Given the description of an element on the screen output the (x, y) to click on. 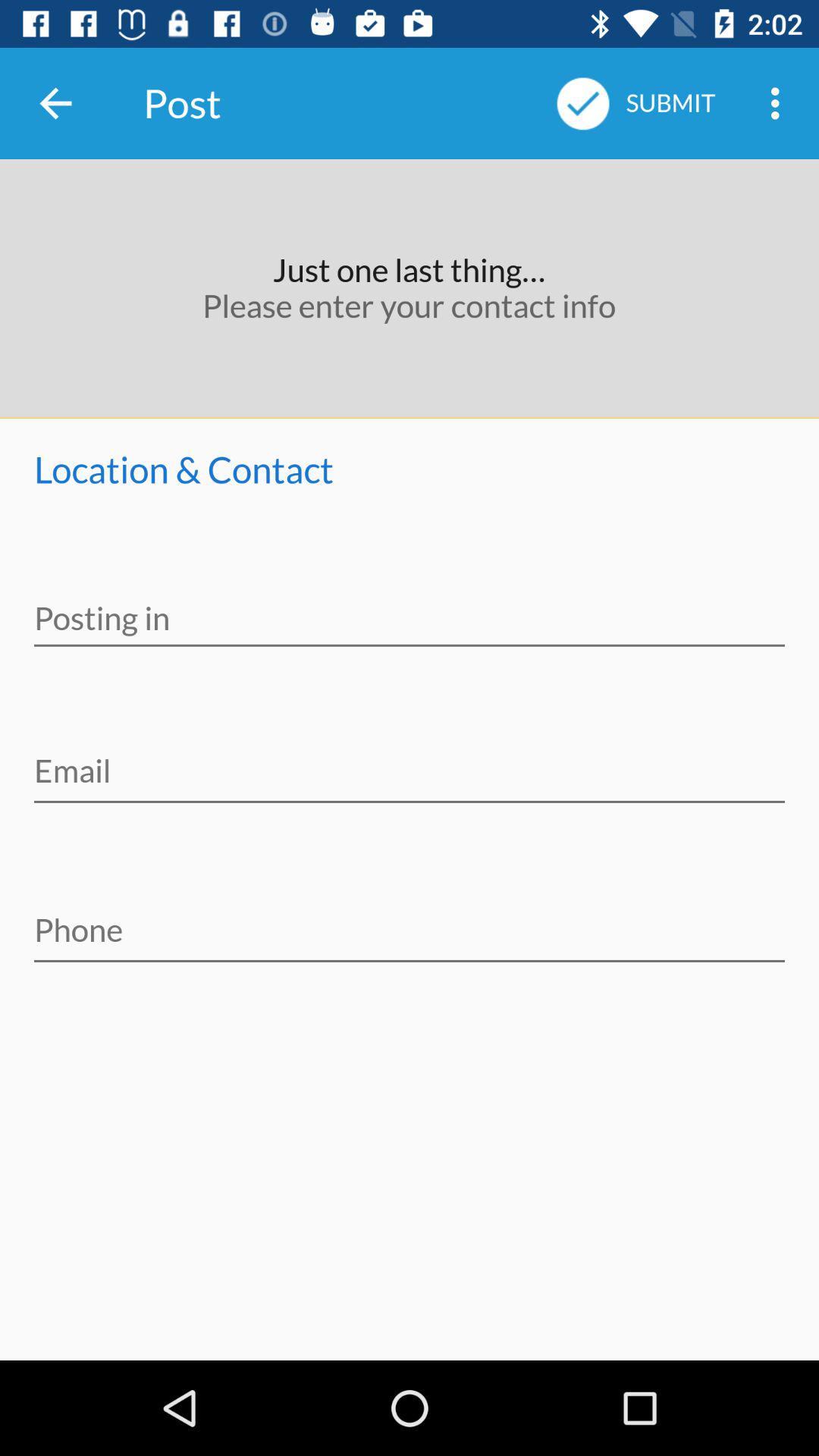
enter your email (409, 760)
